Given the description of an element on the screen output the (x, y) to click on. 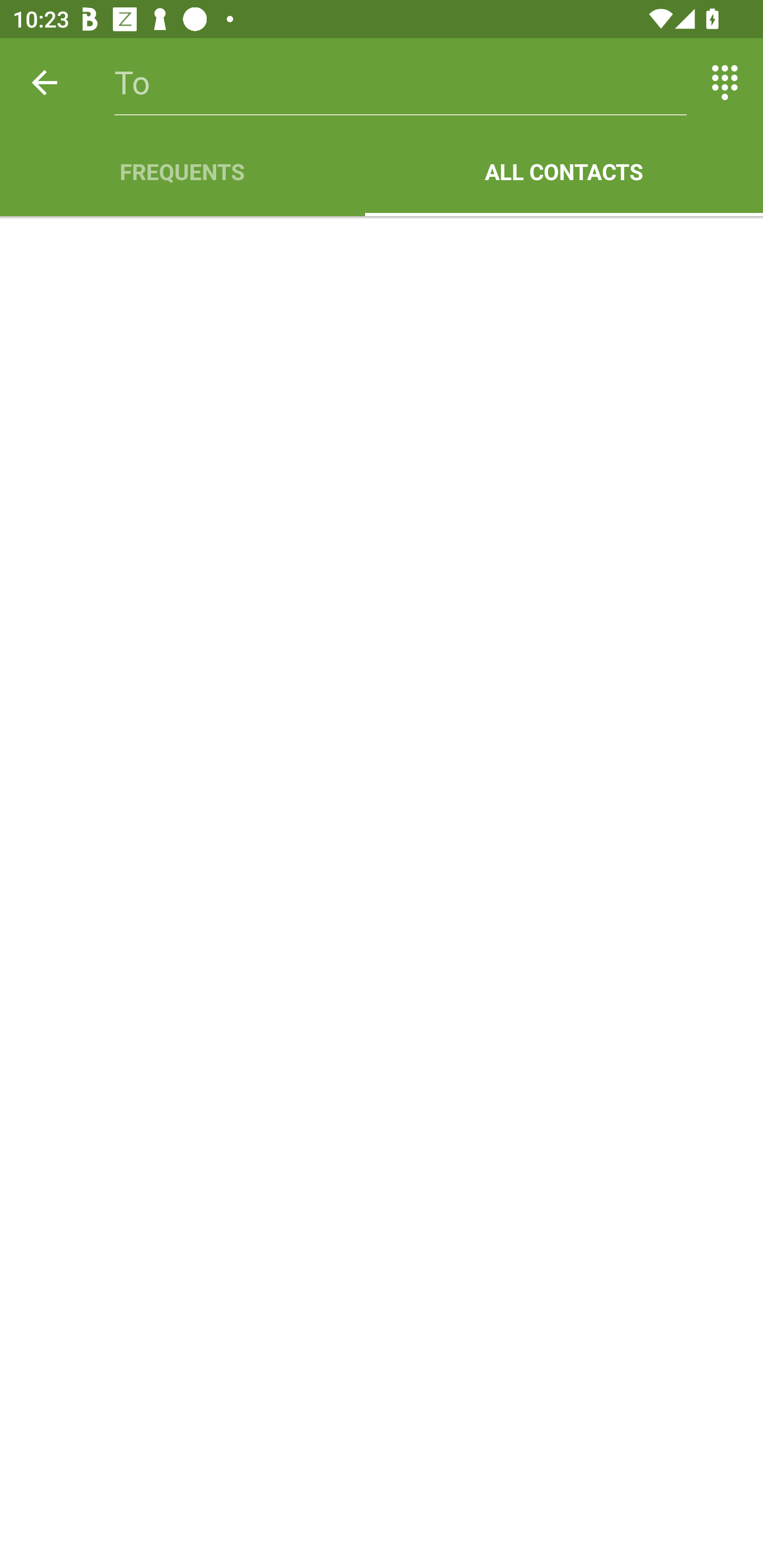
Back (44, 82)
Switch between entering text and numbers (724, 81)
To (400, 82)
FREQUENTS (182, 171)
ALL CONTACTS (563, 171)
